Given the description of an element on the screen output the (x, y) to click on. 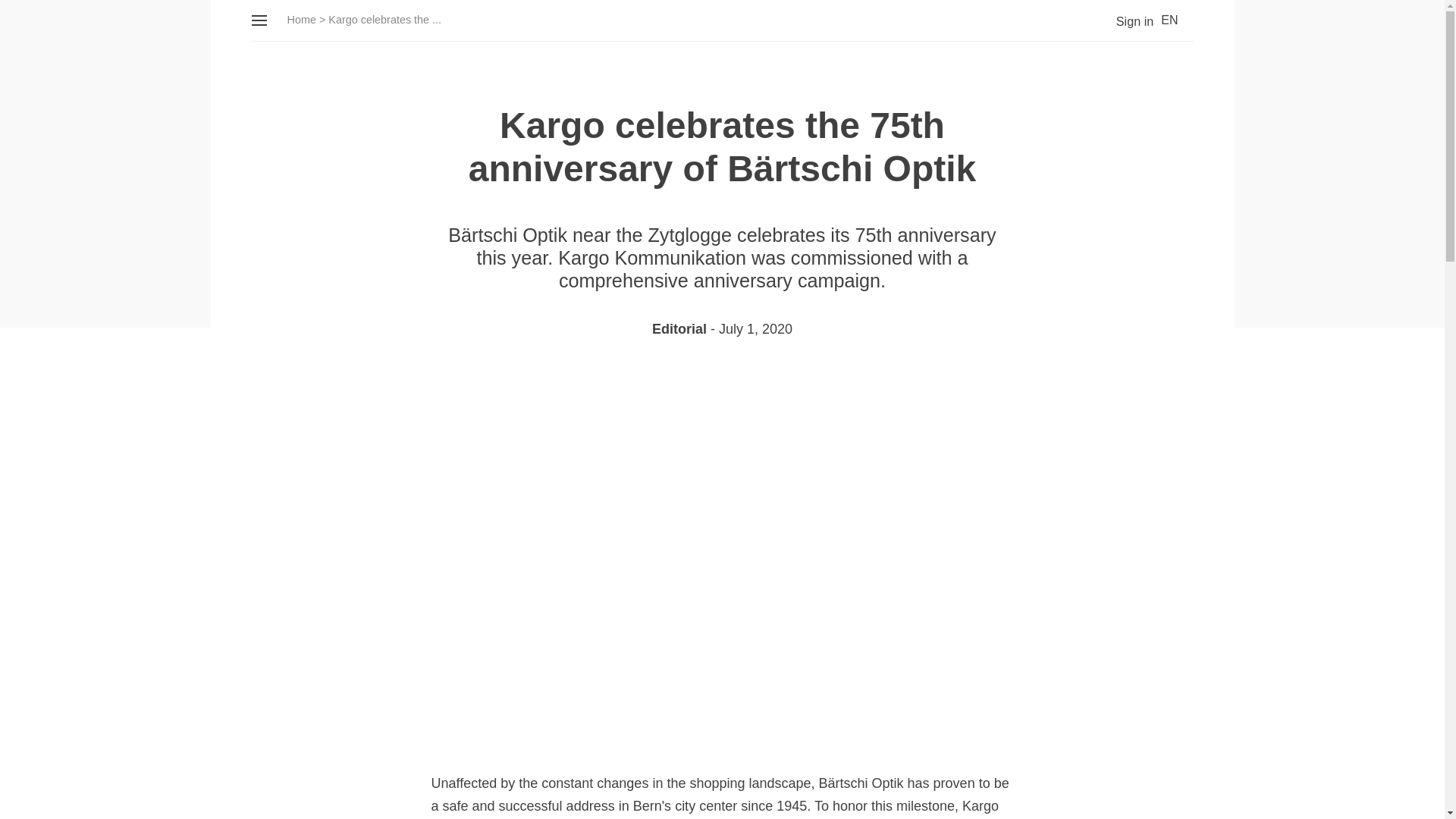
Sign in (1122, 21)
Share by Email (776, 383)
Tweet this (667, 383)
Share on Facebook (695, 383)
Home (300, 20)
